Given the description of an element on the screen output the (x, y) to click on. 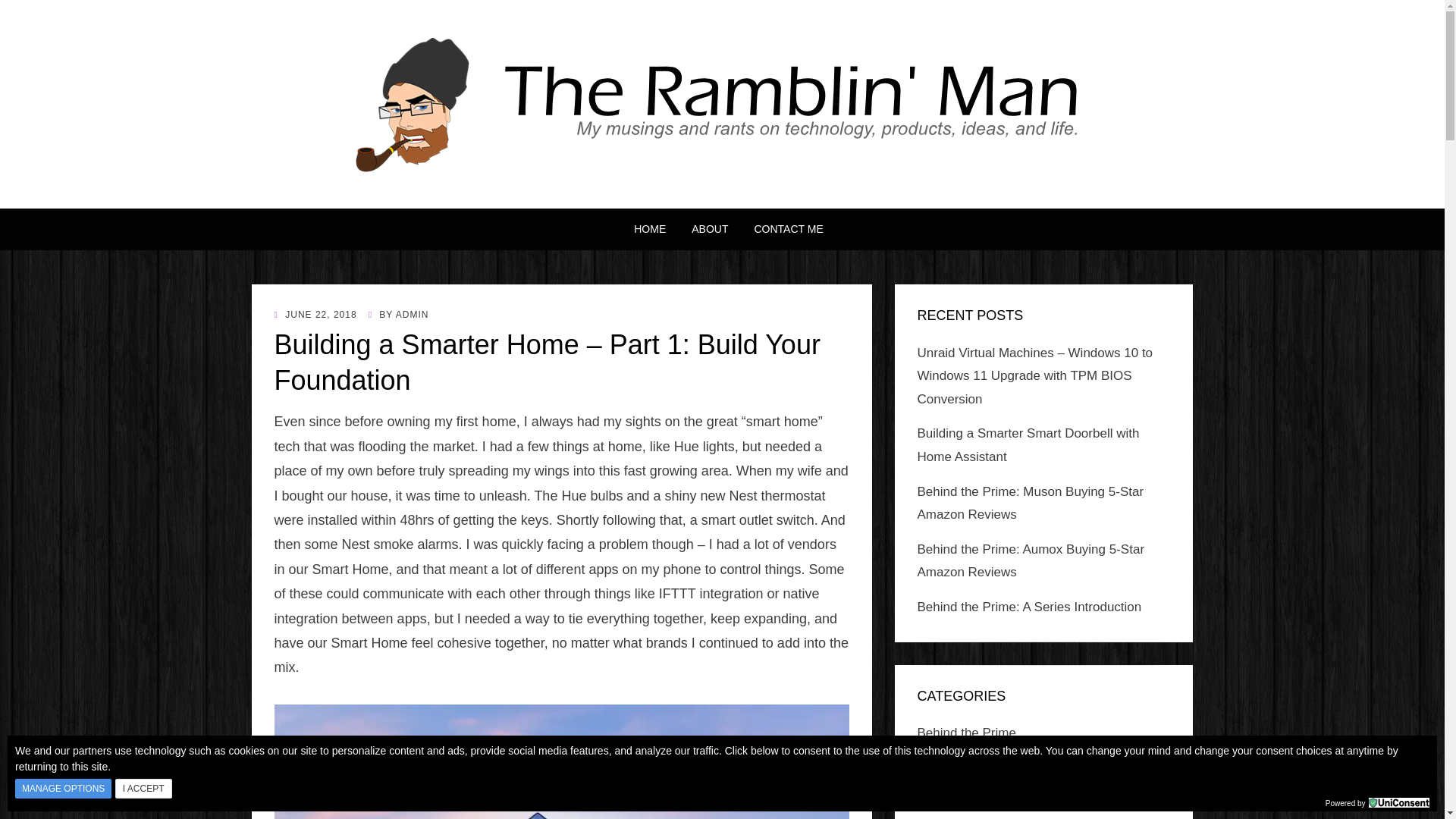
CONTACT ME (781, 229)
The Ramblin' Man (406, 197)
Behind the Prime: A Series Introduction (1029, 606)
JUNE 22, 2018 (315, 314)
GDPR CMP - Cookie Consent Manager (1398, 801)
ABOUT (709, 229)
HOME (649, 229)
DIY (928, 766)
Random Thoughts (970, 801)
Behind the Prime: Muson Buying 5-Star Amazon Reviews (1030, 503)
Behind the Prime (966, 732)
Building a Smarter Smart Doorbell with Home Assistant (1028, 444)
Behind the Prime: Aumox Buying 5-Star Amazon Reviews (1030, 560)
ADMIN (412, 314)
GDPR CMP - Cookie Consent Manager (1398, 802)
